Given the description of an element on the screen output the (x, y) to click on. 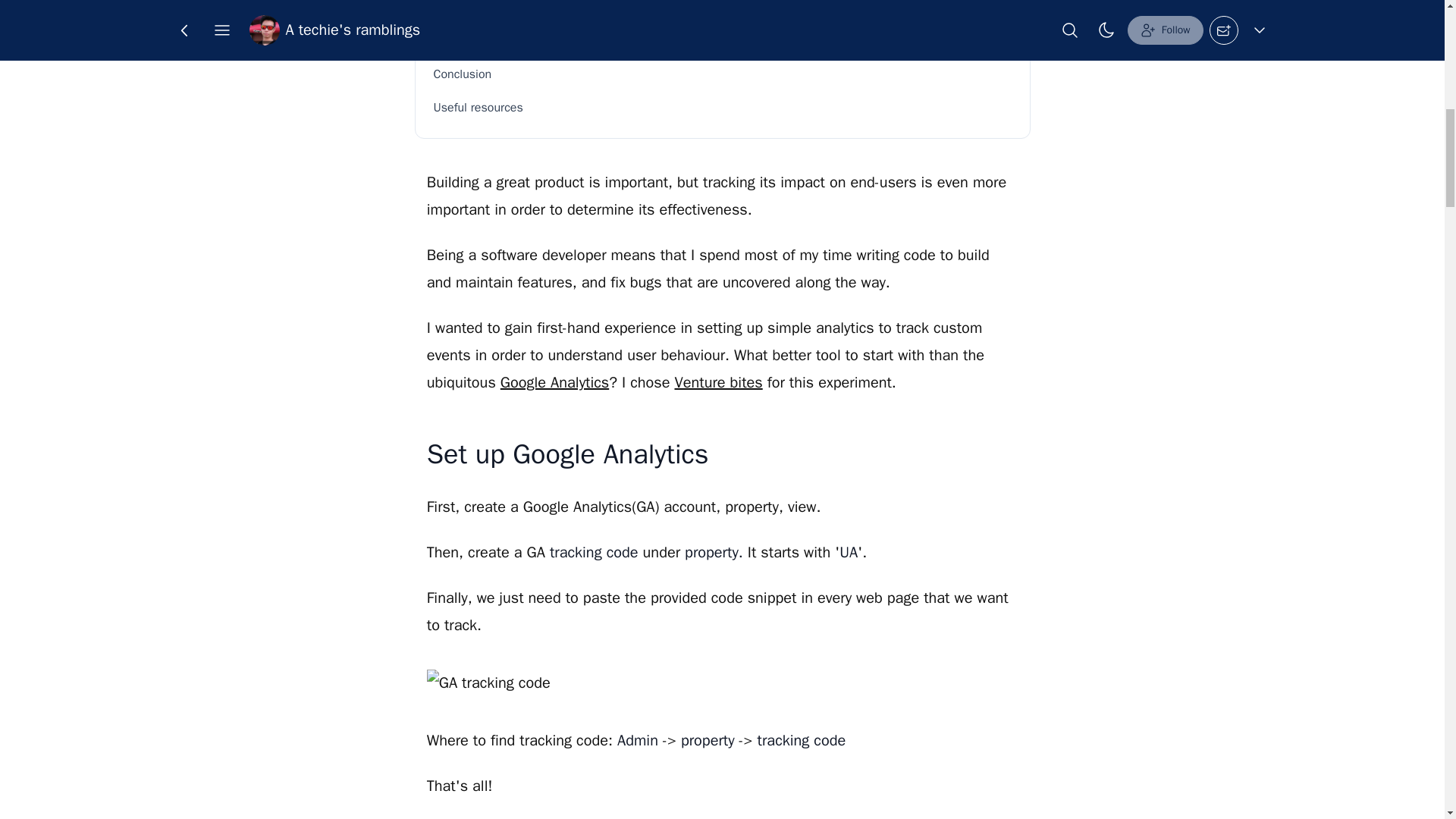
Google Analytics (554, 382)
Conclusion (722, 73)
Venture bites (717, 382)
Google Analytics with Single Page Application (722, 11)
Add Bookmark (744, 24)
Set up Google Tag Manager (722, 40)
Useful resources (722, 107)
